Given the description of an element on the screen output the (x, y) to click on. 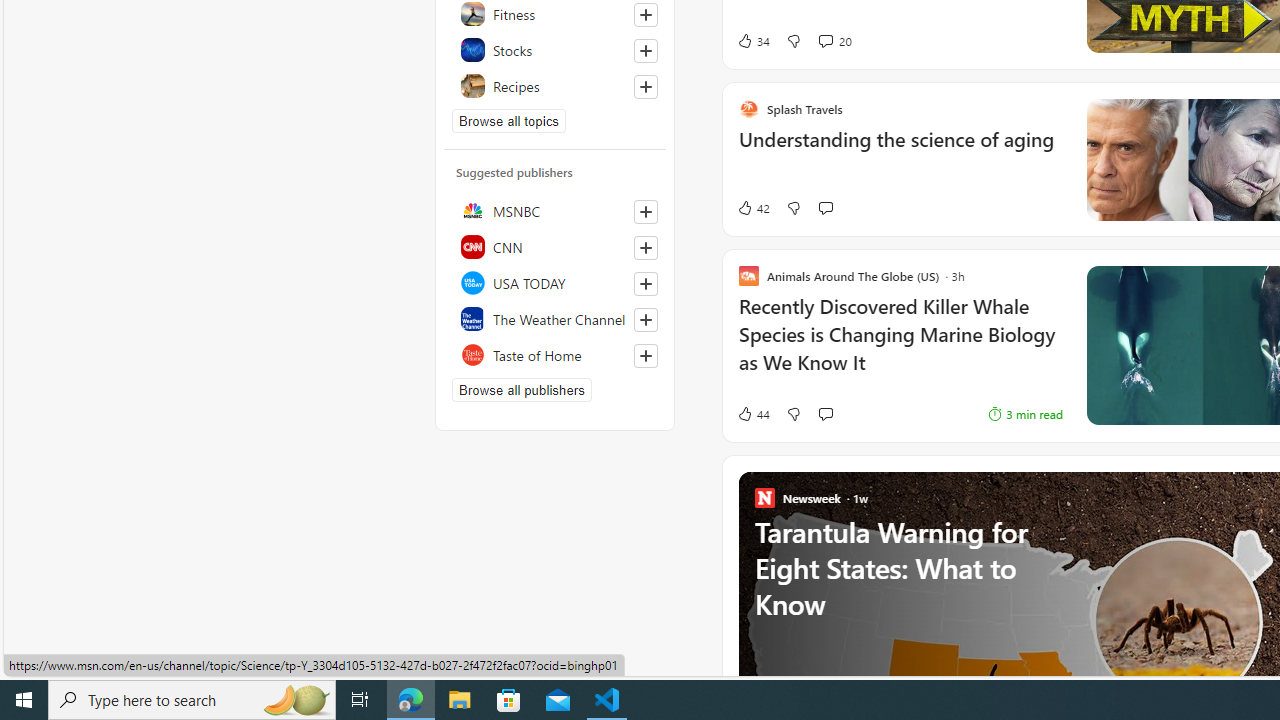
Taste of Home (555, 354)
MSNBC (555, 210)
Stocks (555, 49)
View comments 20 Comment (825, 40)
42 Like (753, 208)
The Weather Channel (555, 318)
Follow this source (645, 355)
Start the conversation (825, 413)
Follow this topic (645, 86)
34 Like (753, 40)
Start the conversation (825, 414)
Follow this topic (645, 86)
CNN (555, 246)
Dislike (793, 413)
